Given the description of an element on the screen output the (x, y) to click on. 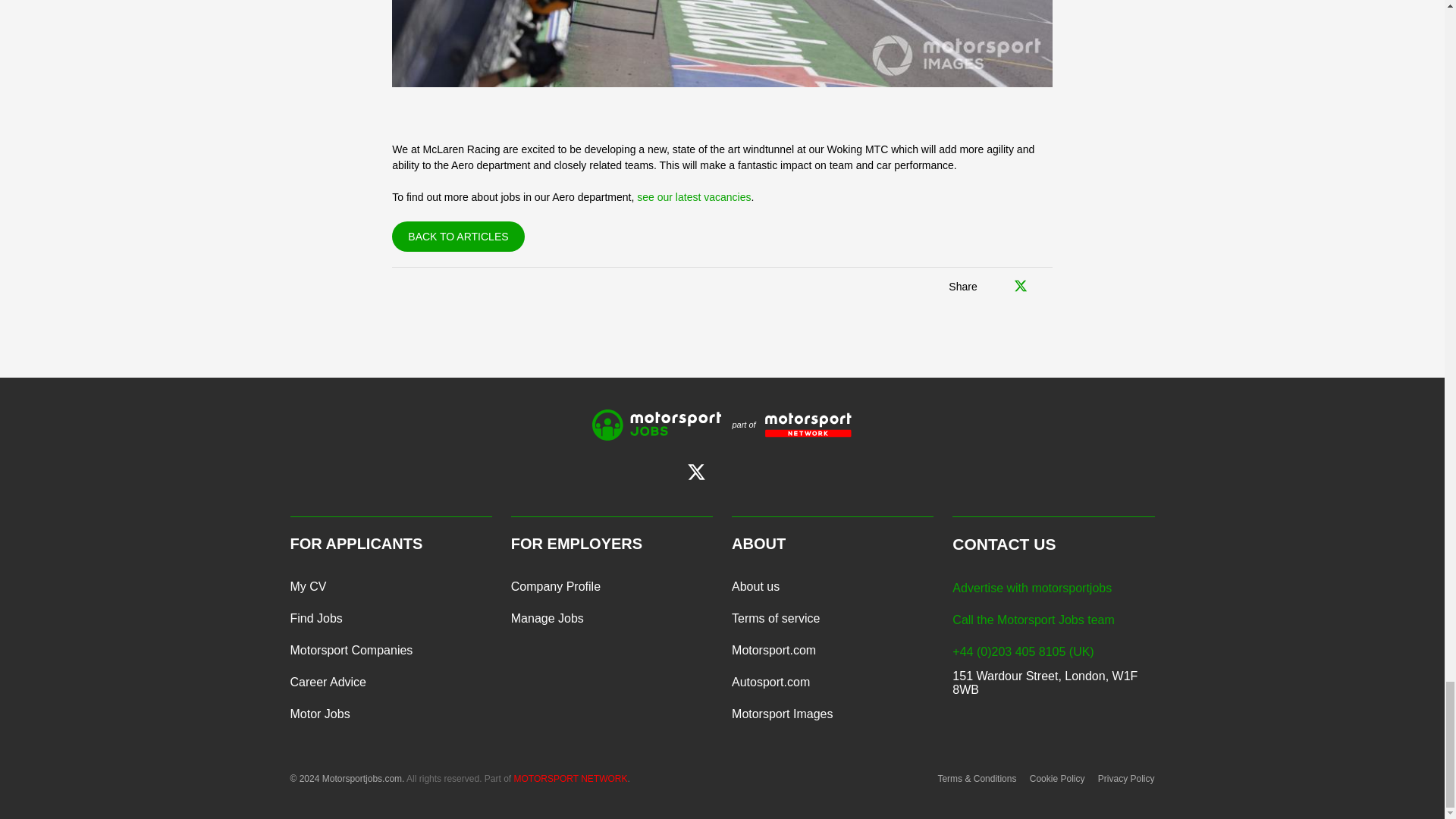
BACK TO ARTICLES (457, 236)
Motor Jobs (319, 714)
Find Jobs (315, 618)
About us (755, 586)
Motorsportjobs.com (656, 424)
part of (785, 424)
Company Profile (555, 586)
Motorsport Companies (350, 650)
My CV (307, 586)
see our latest vacancies (694, 196)
Manage Jobs (547, 618)
Career Advice (327, 682)
